Given the description of an element on the screen output the (x, y) to click on. 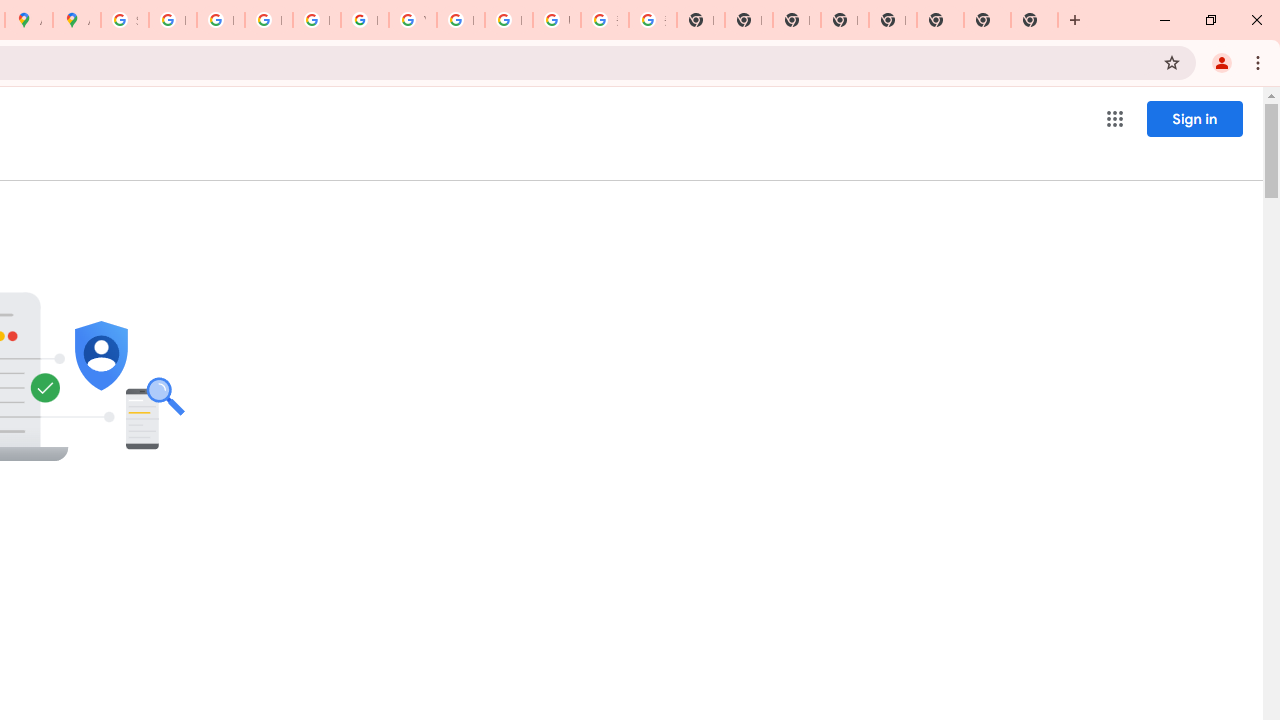
New Tab (1034, 20)
New Tab (892, 20)
New Tab (987, 20)
Privacy Help Center - Policies Help (220, 20)
YouTube (412, 20)
